Given the description of an element on the screen output the (x, y) to click on. 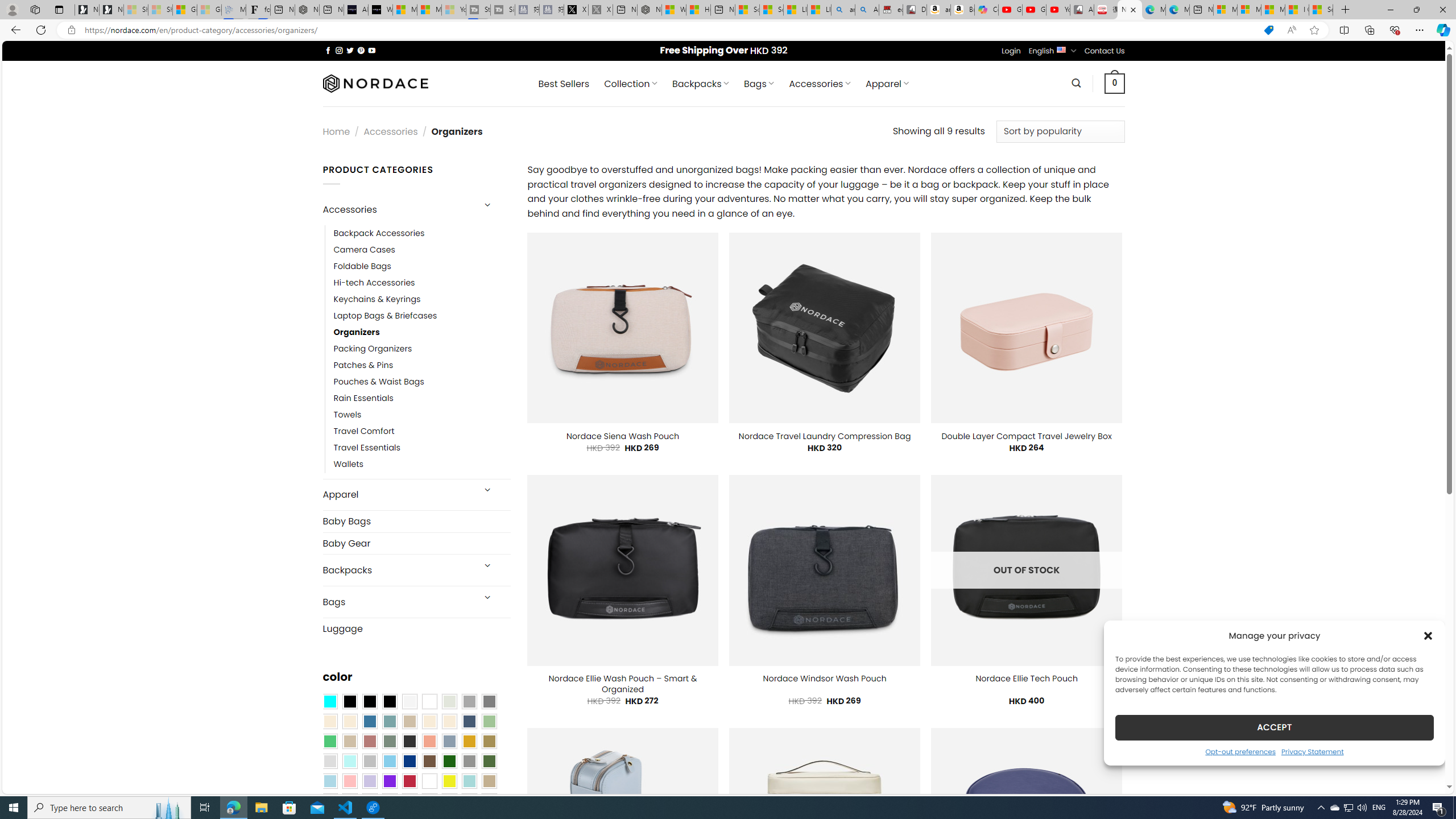
Cream (449, 721)
X - Sleeping (600, 9)
Microsoft Start Sports (404, 9)
Dark Green (449, 761)
Laptop Bags & Briefcases (422, 316)
Packing Organizers (372, 348)
Read aloud this page (Ctrl+Shift+U) (1291, 29)
Charcoal (408, 741)
  Best Sellers (563, 83)
Address and search bar (669, 29)
Sage (389, 741)
YouTube Kids - An App Created for Kids to Explore Content (1057, 9)
